Given the description of an element on the screen output the (x, y) to click on. 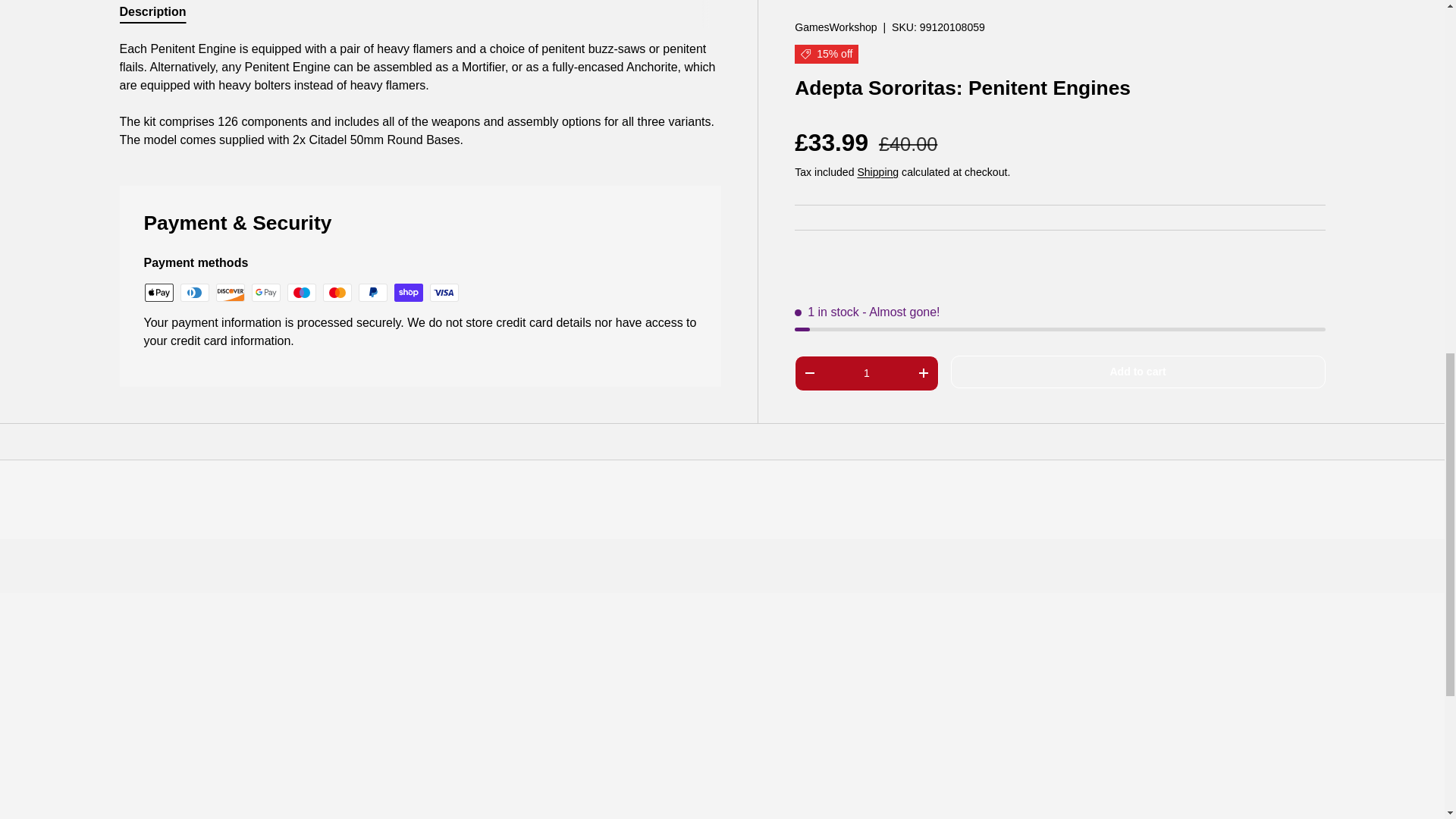
Description (420, 13)
